Given the description of an element on the screen output the (x, y) to click on. 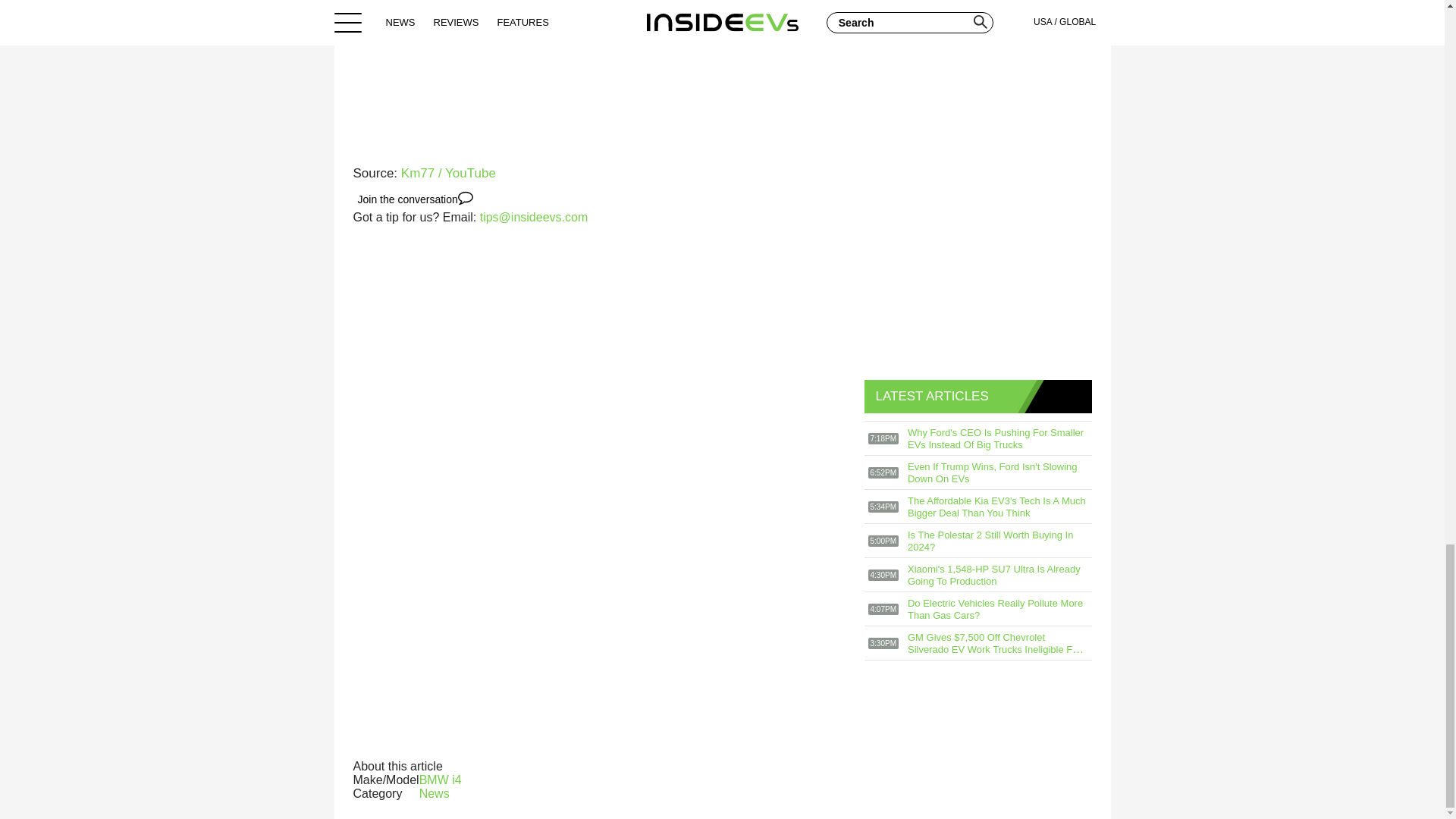
Join the conversation (415, 199)
